Given the description of an element on the screen output the (x, y) to click on. 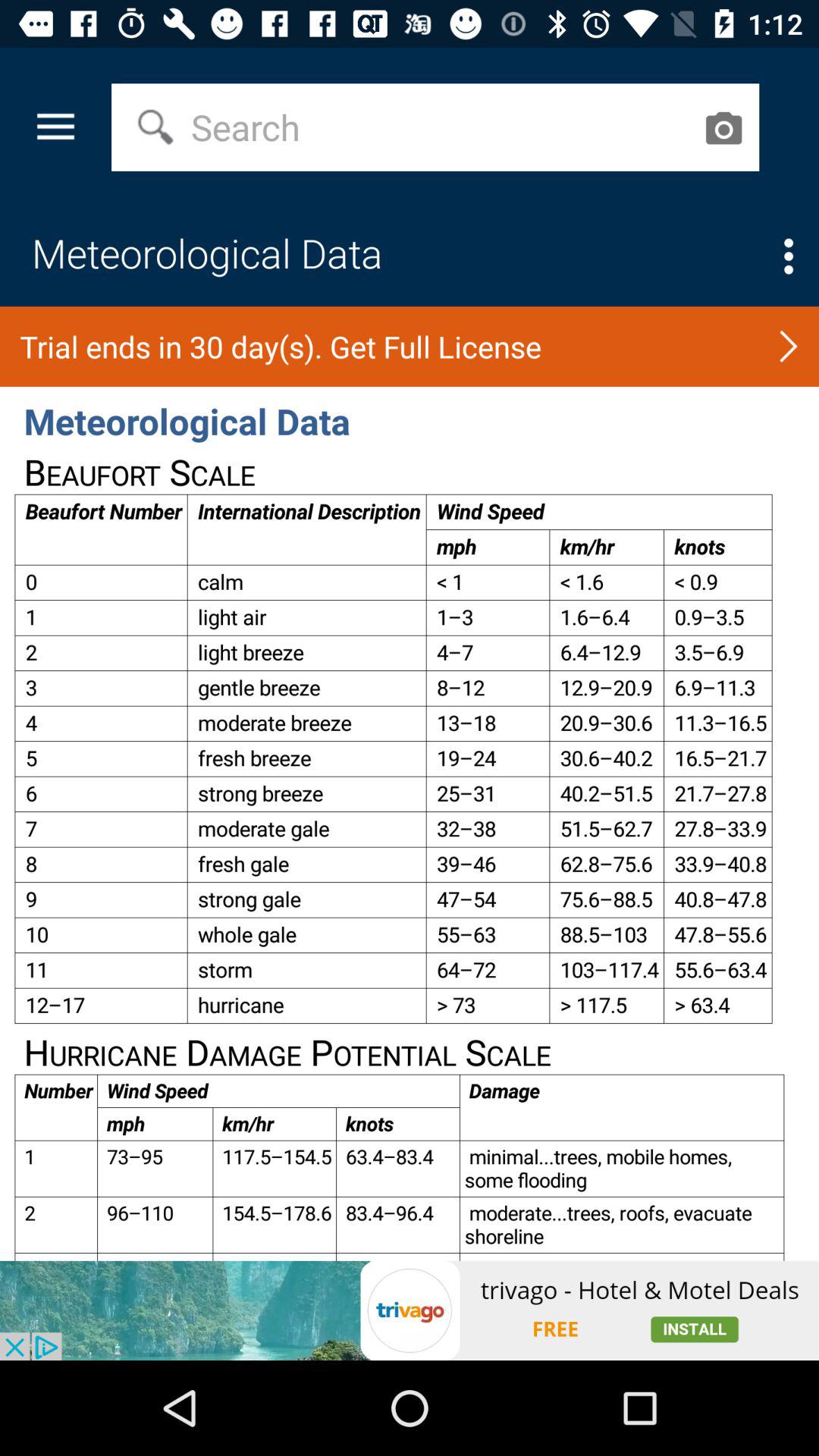
search with an image (723, 127)
